Given the description of an element on the screen output the (x, y) to click on. 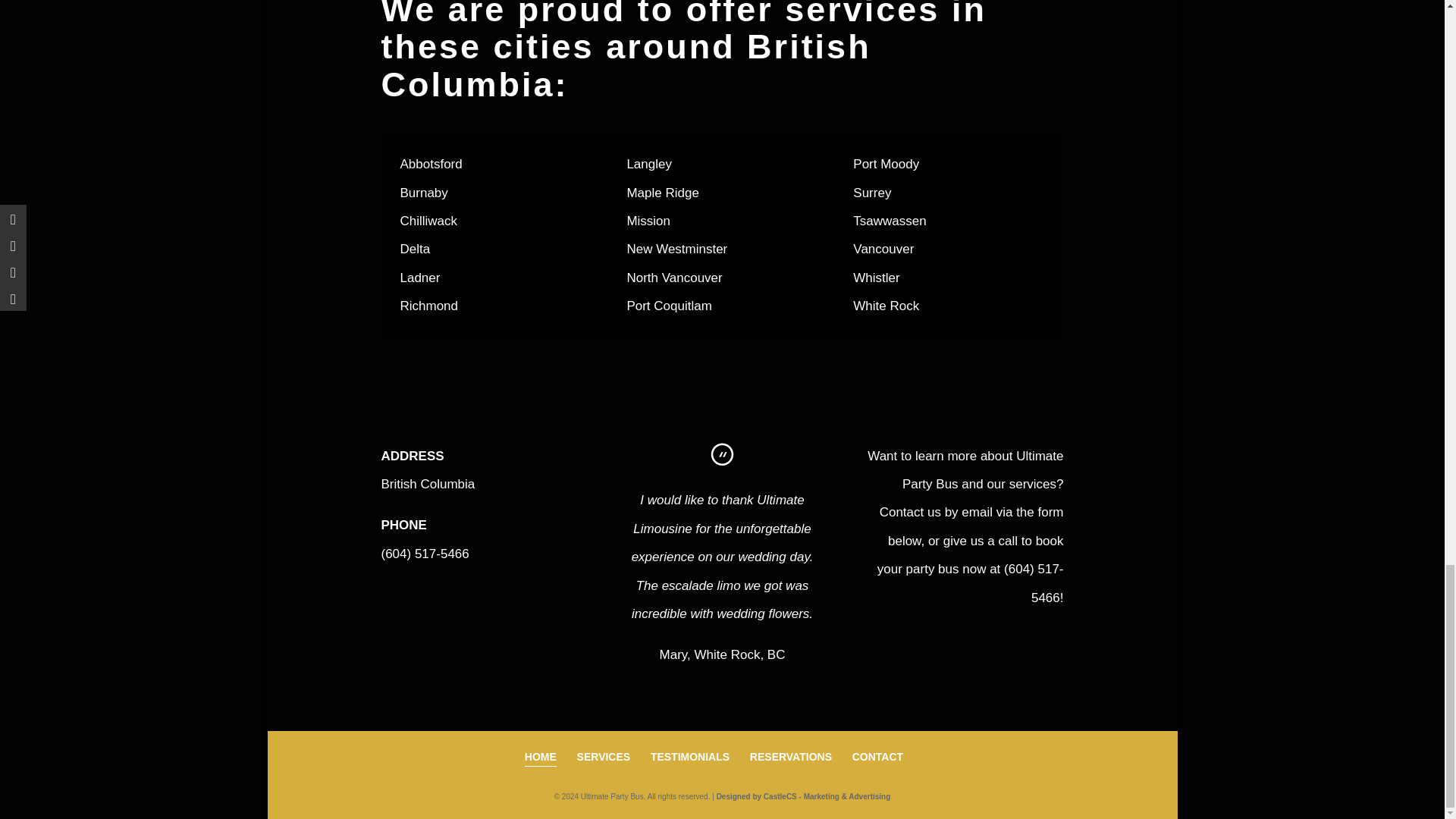
SERVICES (603, 756)
HOME (540, 758)
CONTACT (876, 756)
TESTIMONIALS (689, 756)
RESERVATIONS (790, 756)
